Given the description of an element on the screen output the (x, y) to click on. 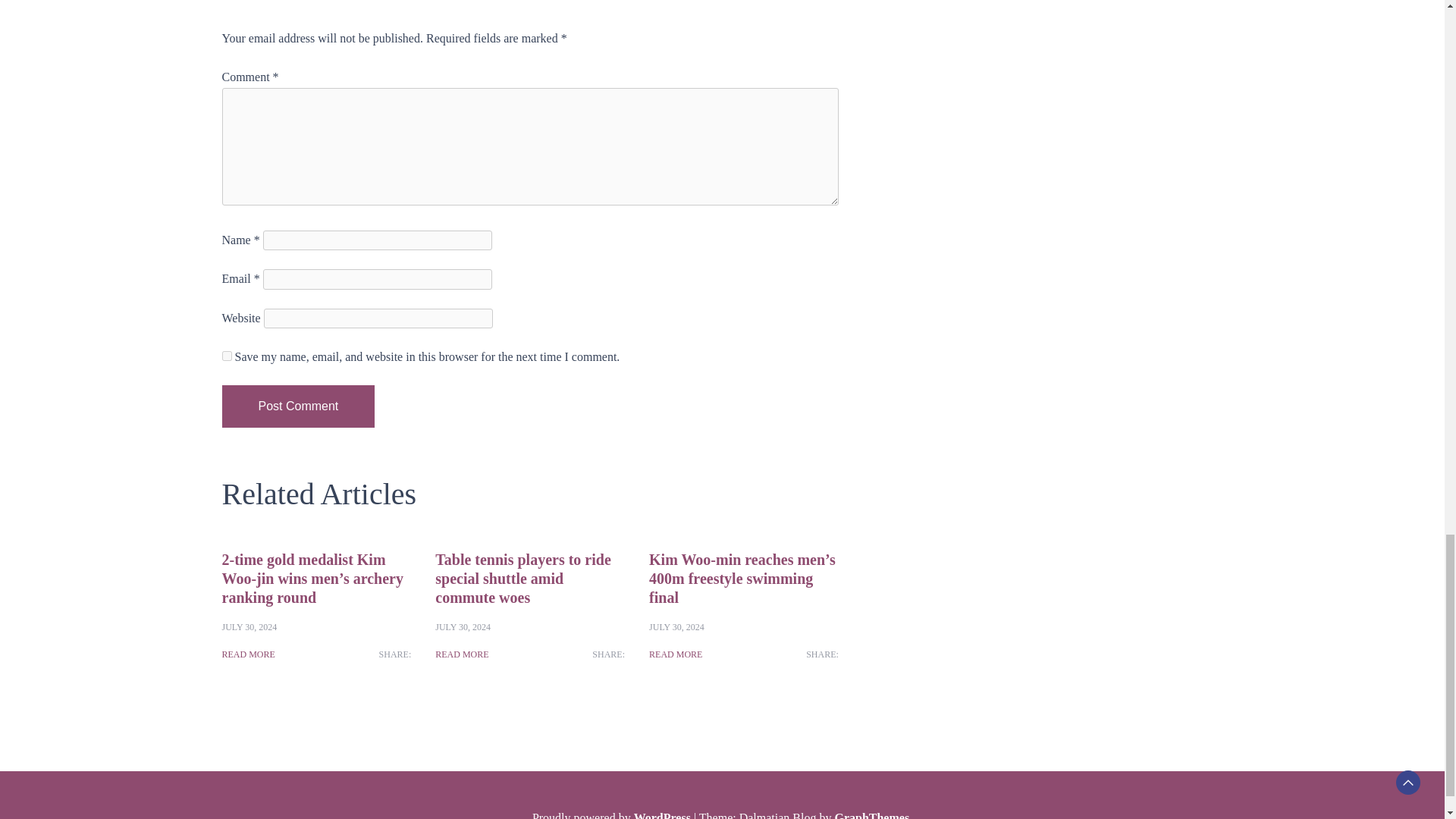
JULY 30, 2024 (462, 626)
JULY 30, 2024 (676, 626)
READ MORE (248, 654)
JULY 30, 2024 (248, 626)
READ MORE (675, 654)
Post Comment (297, 405)
yes (226, 356)
Post Comment (297, 405)
READ MORE (461, 654)
